Given the description of an element on the screen output the (x, y) to click on. 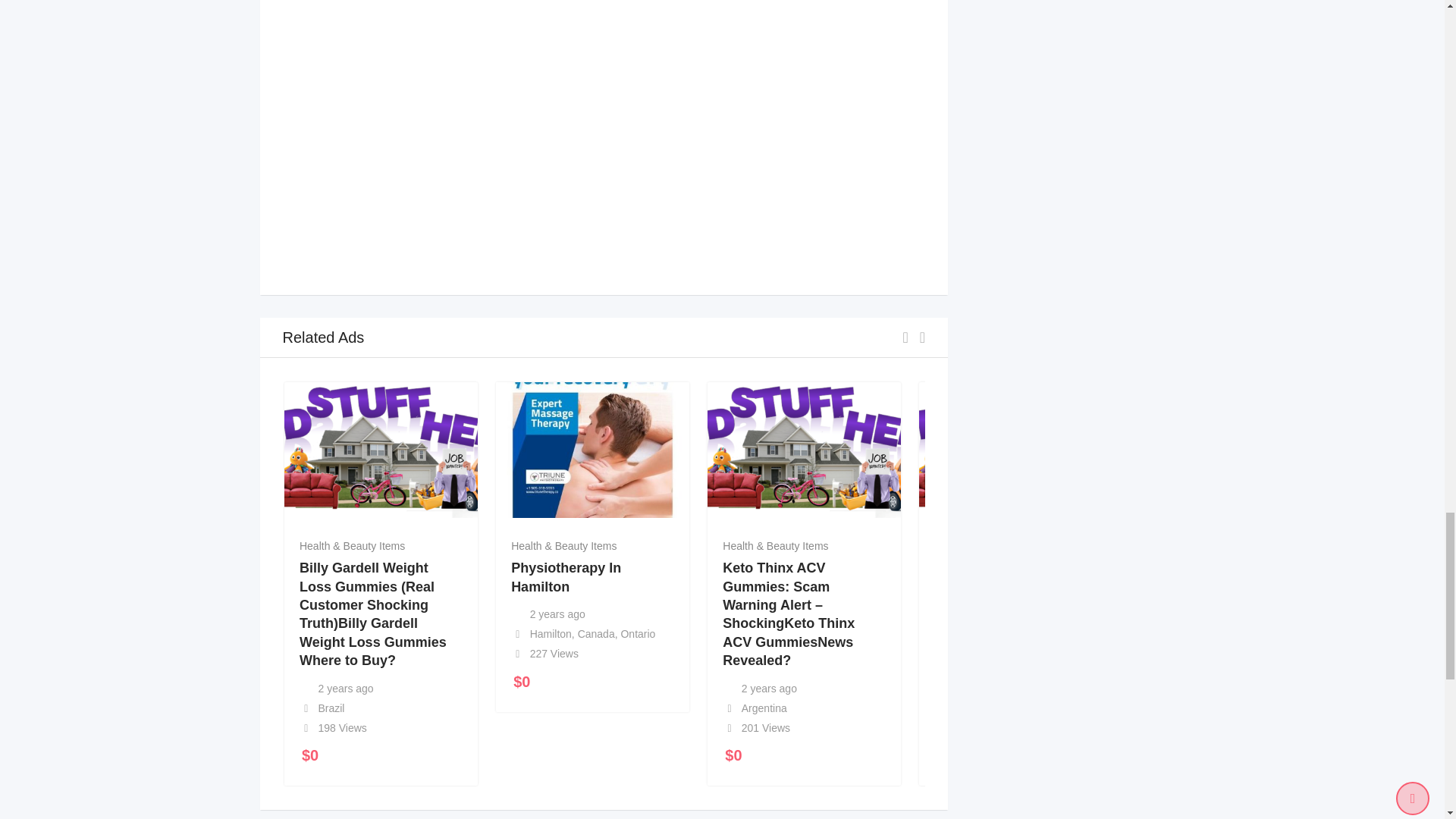
Physiotherapy In Hamilton (566, 576)
